Given the description of an element on the screen output the (x, y) to click on. 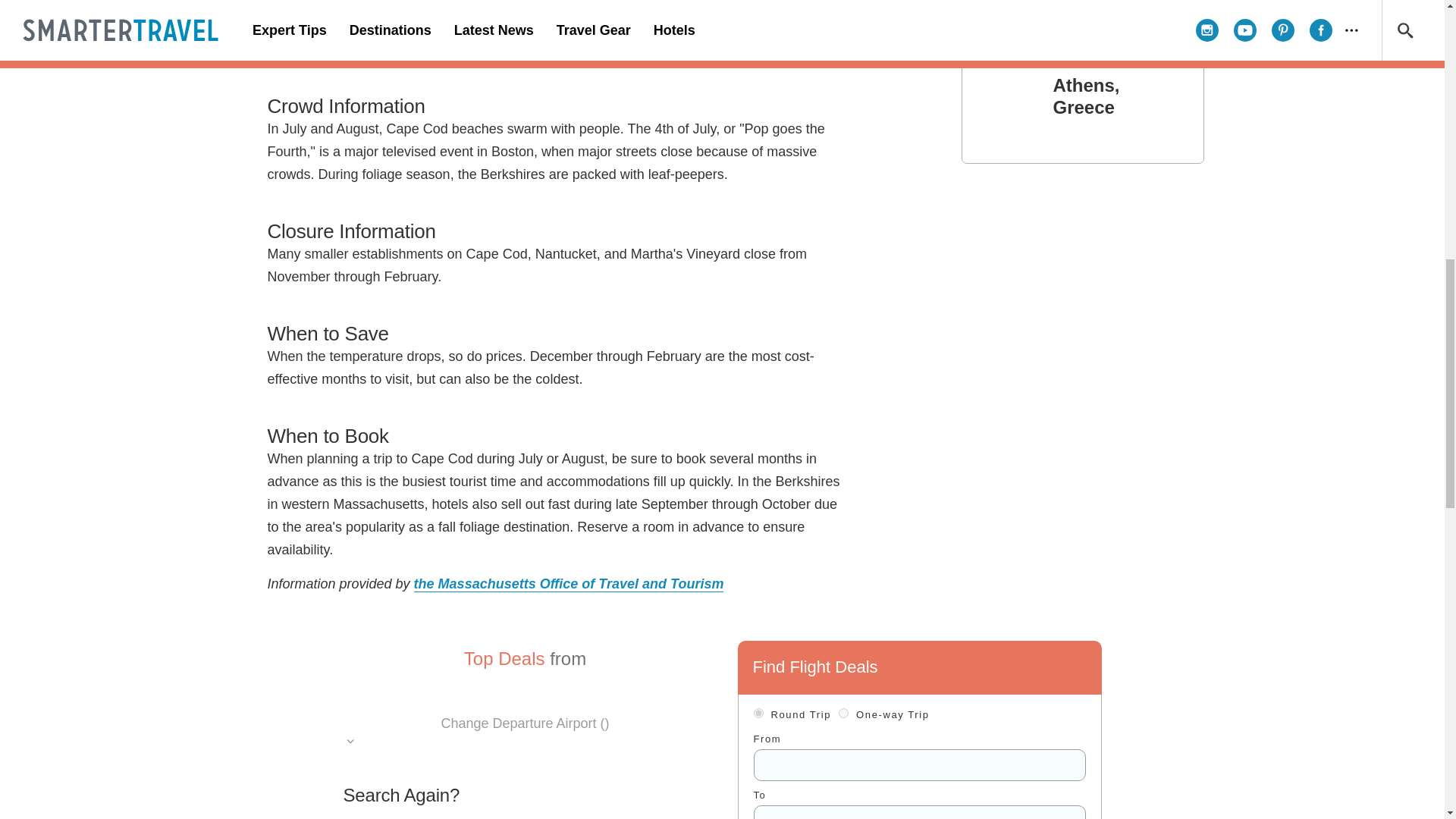
one-way (843, 713)
round-trip (758, 713)
